Given the description of an element on the screen output the (x, y) to click on. 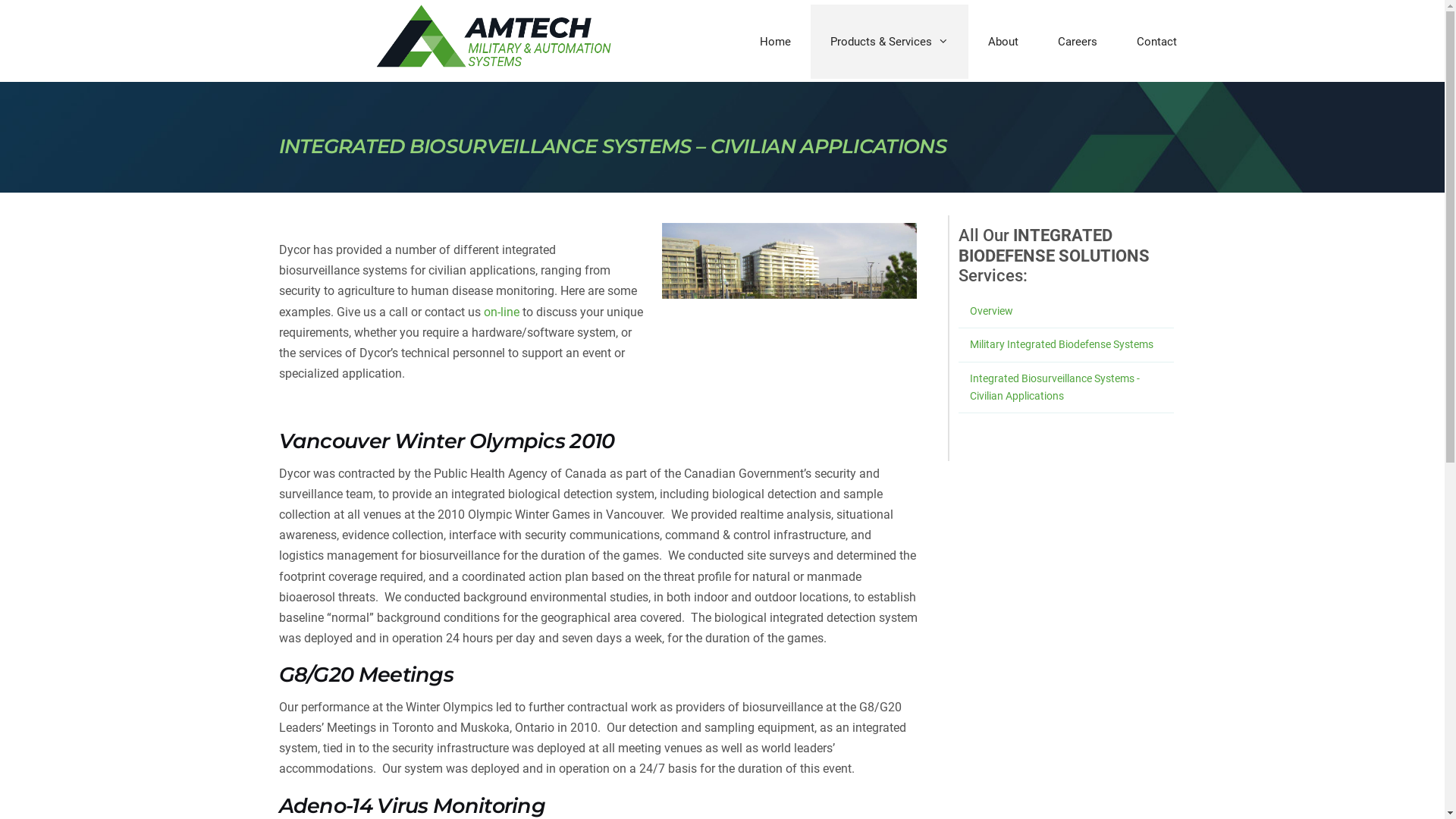
Home Element type: text (775, 41)
Overview Element type: text (991, 310)
on-line Element type: text (501, 311)
Contact Element type: text (1156, 41)
Amtech Military and Automation Systems Element type: hover (493, 36)
About Element type: text (1003, 41)
Careers Element type: text (1077, 41)
Amtech Military and Automation Systems Element type: hover (493, 37)
Integrated Biosurveillance Systems - Civilian Applications Element type: text (1054, 386)
Products & Services Element type: text (889, 41)
Military Integrated Biodefense Systems Element type: text (1061, 344)
